Given the description of an element on the screen output the (x, y) to click on. 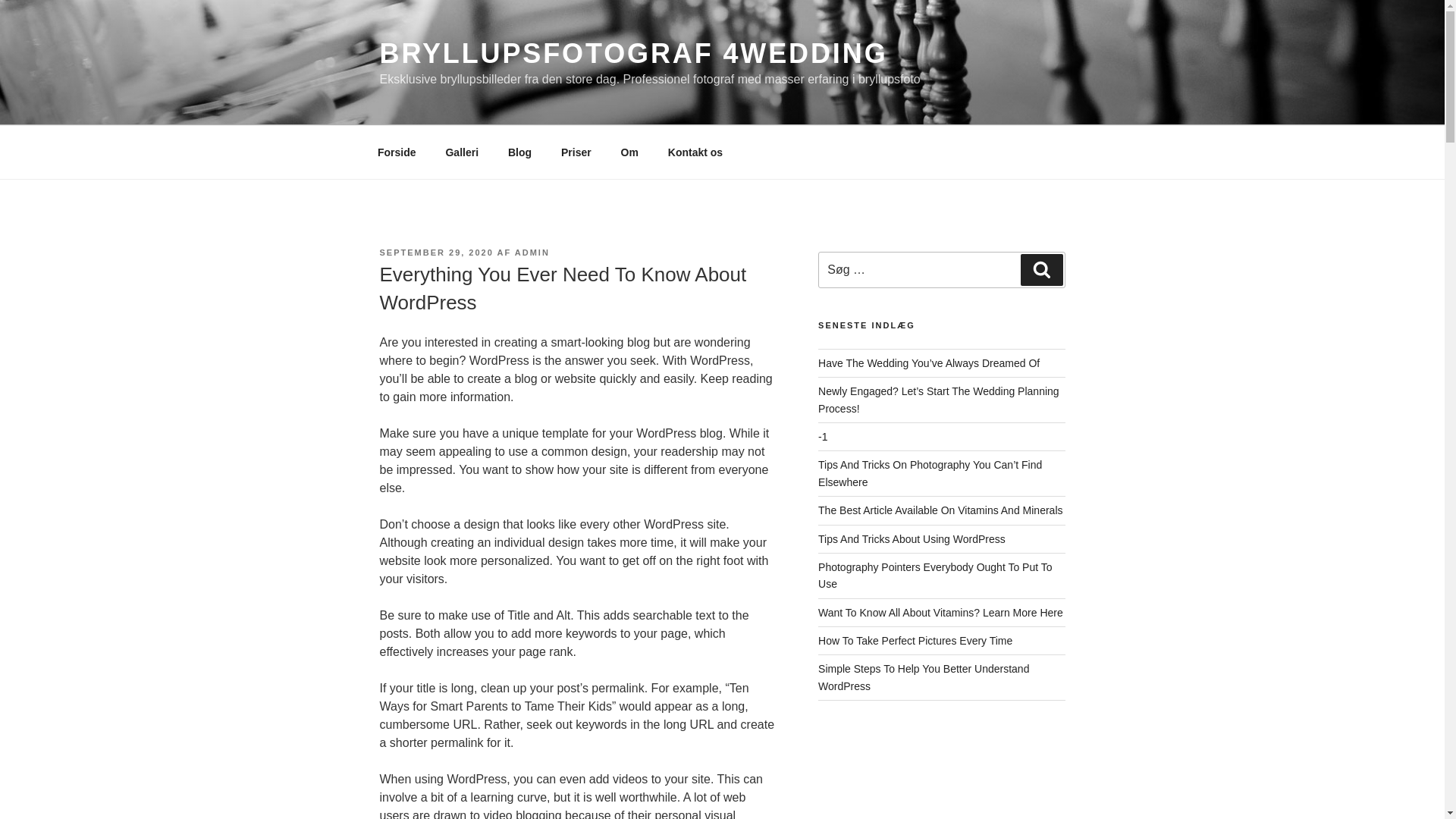
Photography Pointers Everybody Ought To Put To Use (934, 575)
ADMIN (532, 252)
Kontakt os (694, 151)
Om (628, 151)
BRYLLUPSFOTOGRAF 4WEDDING (632, 52)
Forside (396, 151)
Simple Steps To Help You Better Understand WordPress (923, 676)
Priser (575, 151)
Galleri (462, 151)
SEPTEMBER 29, 2020 (435, 252)
Tips And Tricks About Using WordPress (912, 538)
The Best Article Available On Vitamins And Minerals (940, 510)
How To Take Perfect Pictures Every Time (914, 640)
Blog (519, 151)
Want To Know All About Vitamins? Learn More Here (940, 612)
